Given the description of an element on the screen output the (x, y) to click on. 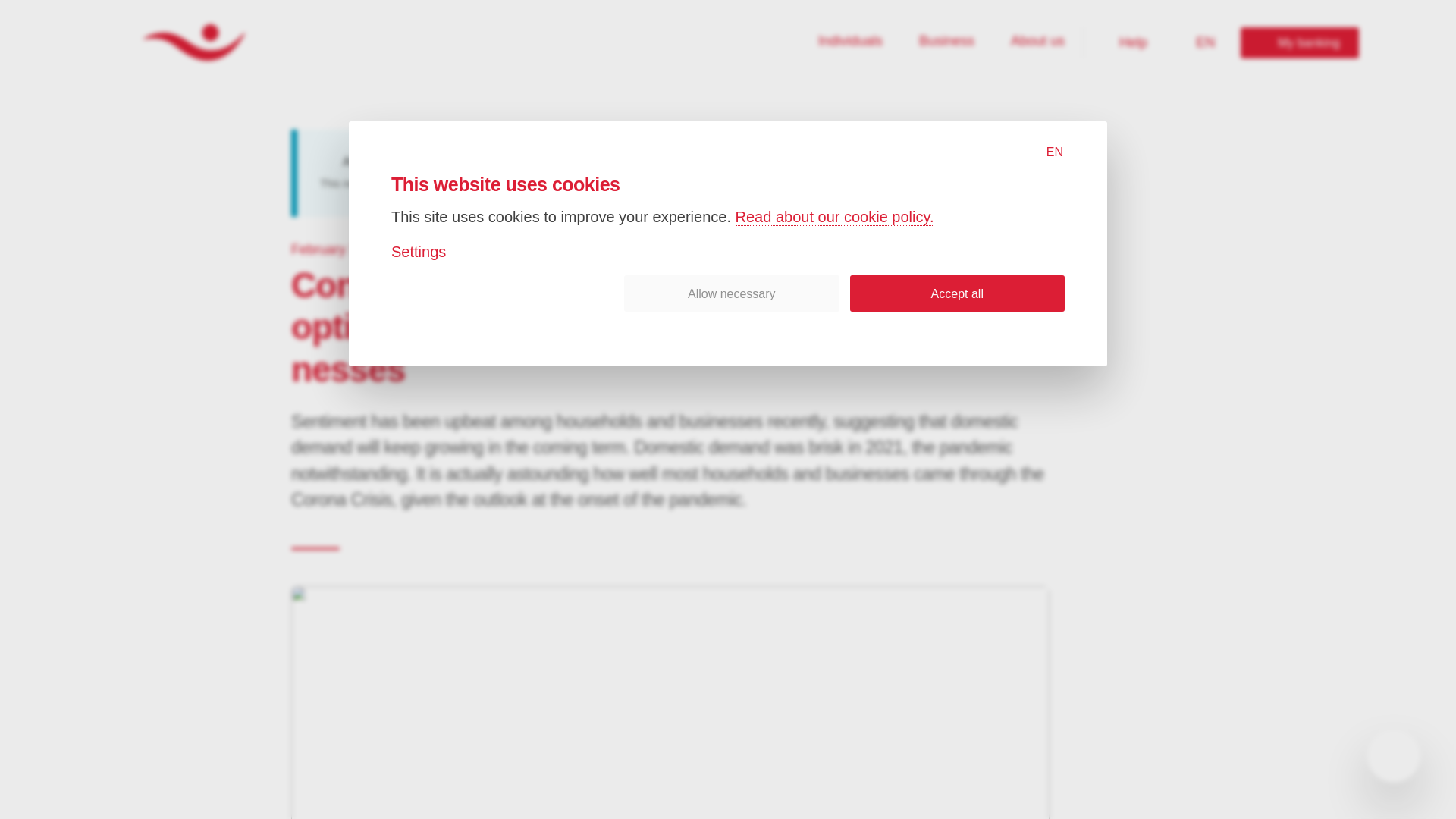
Select language (1203, 42)
About us (1037, 42)
Help (1124, 42)
Business (946, 42)
Select language (1049, 151)
Individuals (1299, 42)
